Given the description of an element on the screen output the (x, y) to click on. 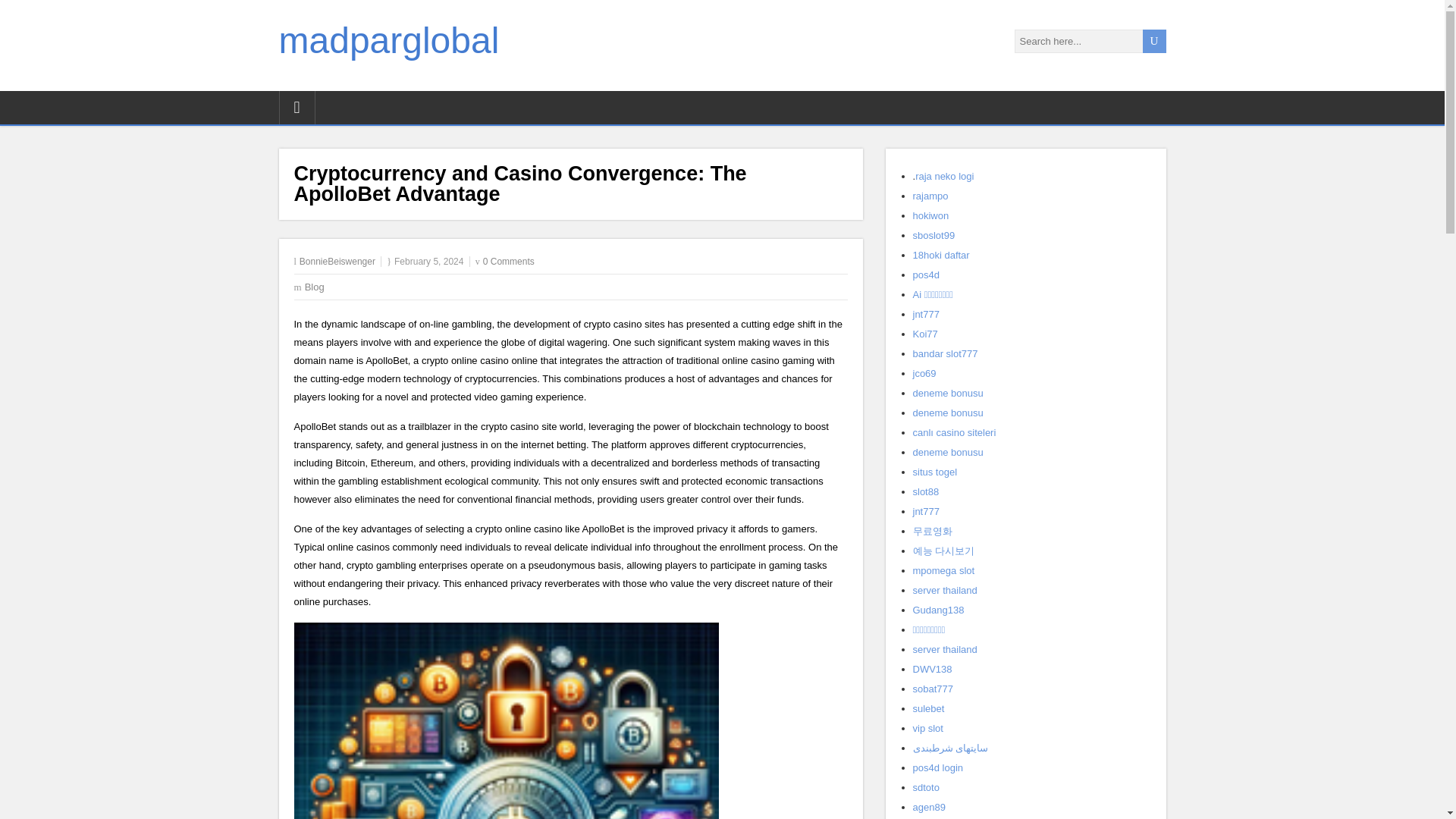
0 Comments (508, 261)
Posts by BonnieBeiswenger (337, 261)
server thailand (944, 590)
U (1153, 41)
situs togel (935, 471)
mpomega slot (943, 570)
BonnieBeiswenger (337, 261)
pos4d (925, 274)
deneme bonusu (948, 392)
Blog (314, 286)
deneme bonusu (948, 451)
jco69 (924, 373)
rajampo (930, 195)
server thailand (944, 649)
jnt777 (925, 511)
